Given the description of an element on the screen output the (x, y) to click on. 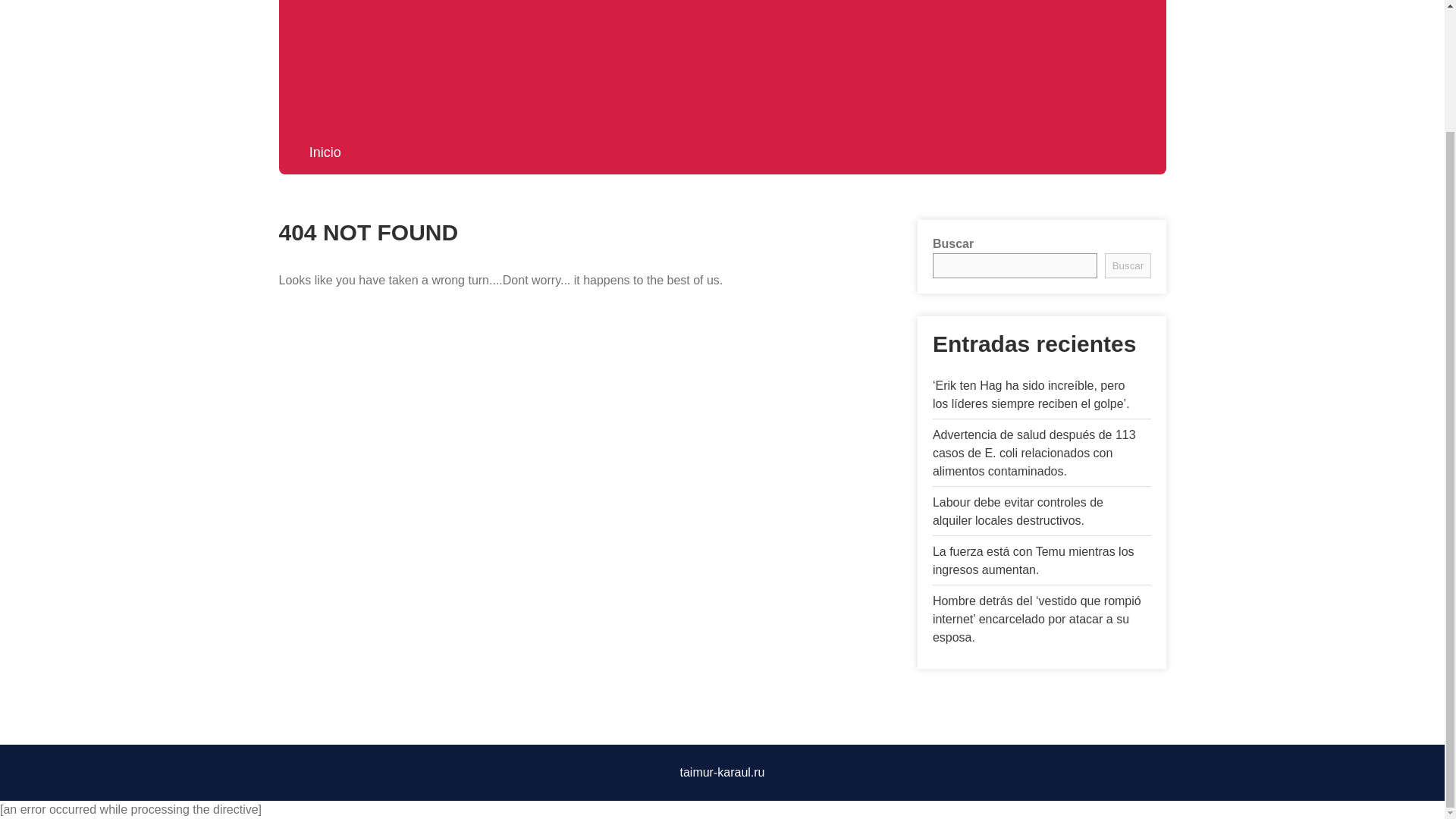
Inicio (324, 152)
Advertisement (722, 61)
Buscar (1127, 265)
